Given the description of an element on the screen output the (x, y) to click on. 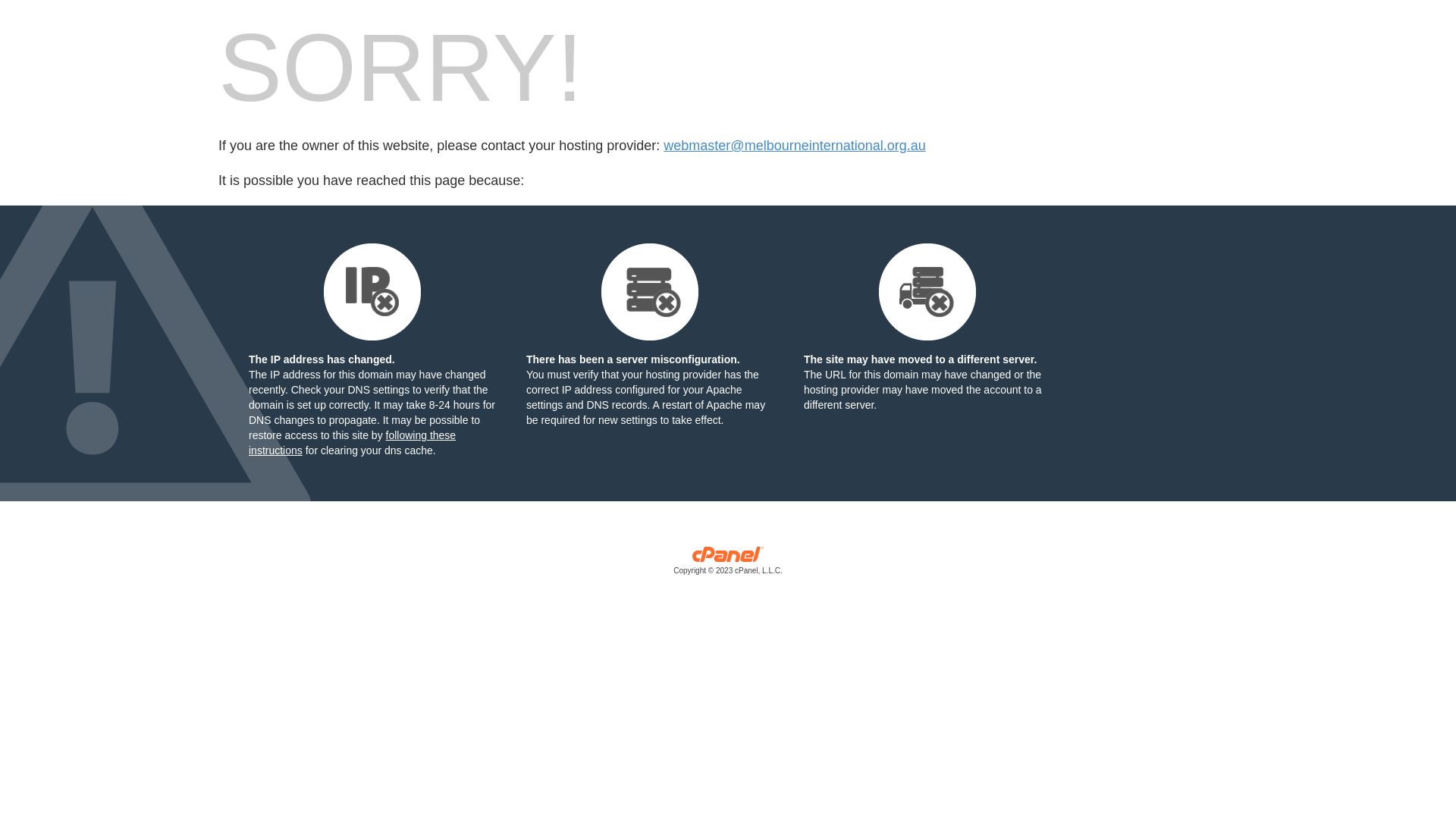
webmaster@melbourneinternational.org.au Element type: text (794, 145)
following these instructions Element type: text (351, 442)
